Given the description of an element on the screen output the (x, y) to click on. 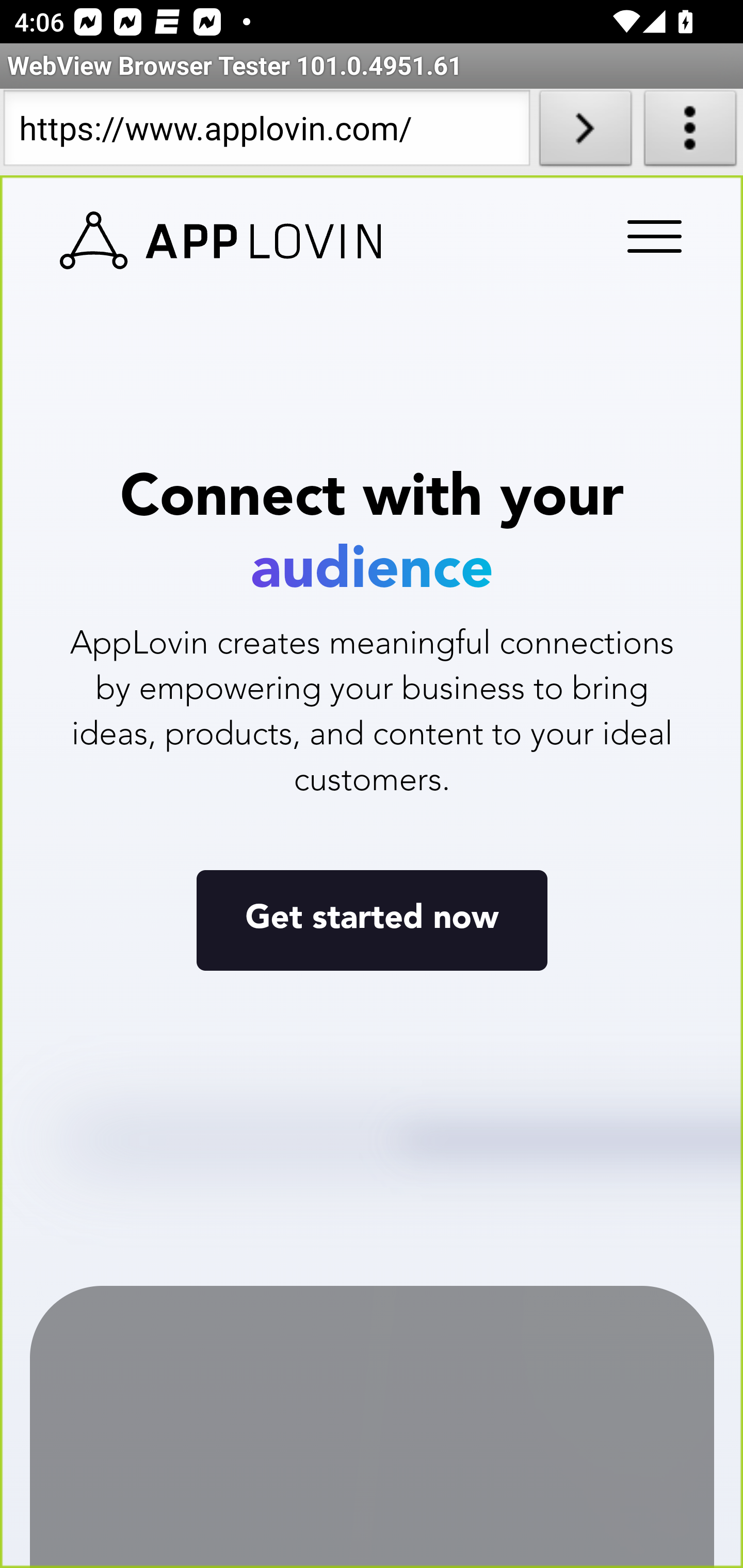
https://www.applovin.com/ (266, 132)
Load URL (585, 132)
About WebView (690, 132)
Menu Trigger (650, 237)
www.applovin (220, 241)
Get started now (371, 919)
